Given the description of an element on the screen output the (x, y) to click on. 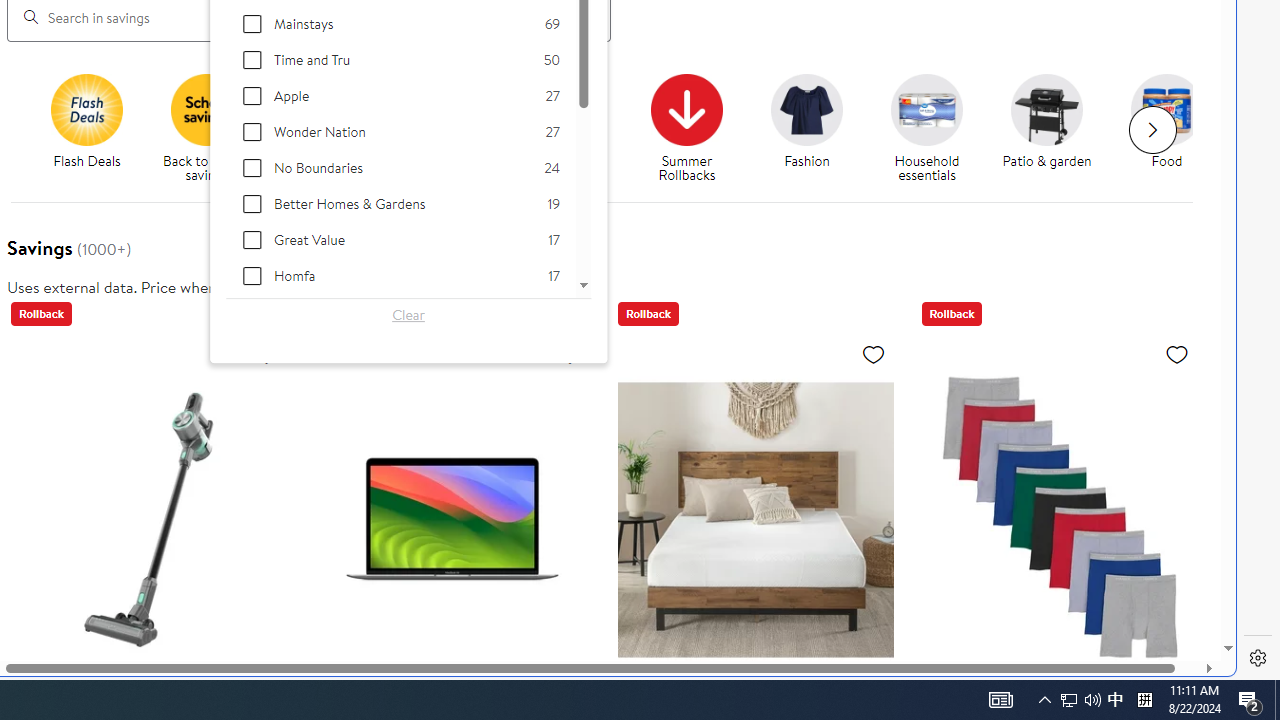
legal information (353, 286)
Back to College savings Back to college savings (326, 128)
Get it today Get it today (566, 122)
Household essentials (926, 109)
Back to School savings (207, 109)
Flash Deals (94, 128)
Hanes Men's Super Value Pack Assorted Boxer Briefs, 10 Pack (1058, 519)
$20 and under $20 & under (447, 122)
Get it today (574, 128)
Get it today (566, 109)
$20 & under (454, 128)
Flash deals (86, 109)
Household essentials (934, 128)
Summer Rollbacks (687, 109)
Back to College savings (326, 109)
